Given the description of an element on the screen output the (x, y) to click on. 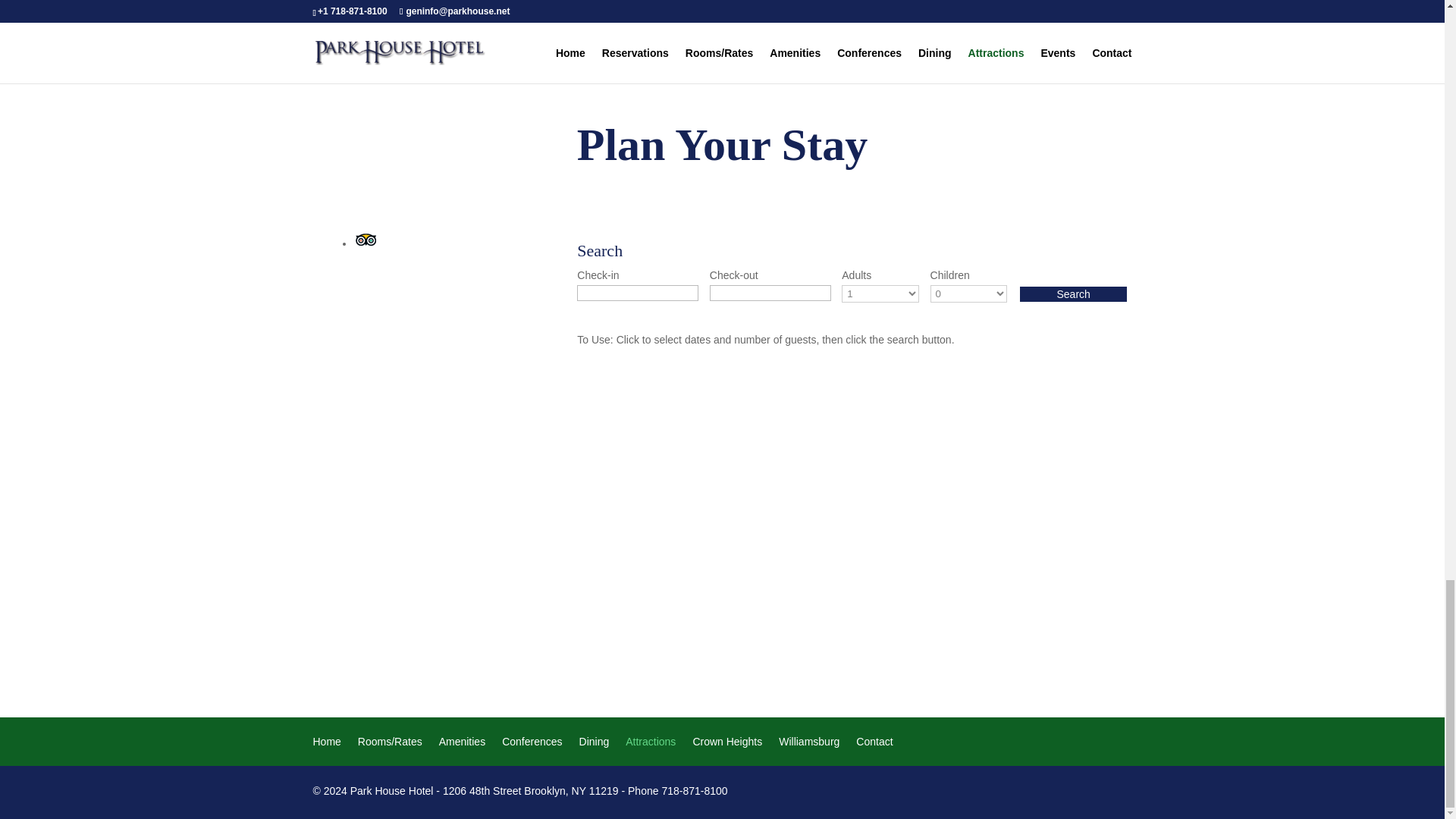
Big Apple Tours (647, 0)
Search (1072, 294)
Park House Hotel (326, 744)
